Given the description of an element on the screen output the (x, y) to click on. 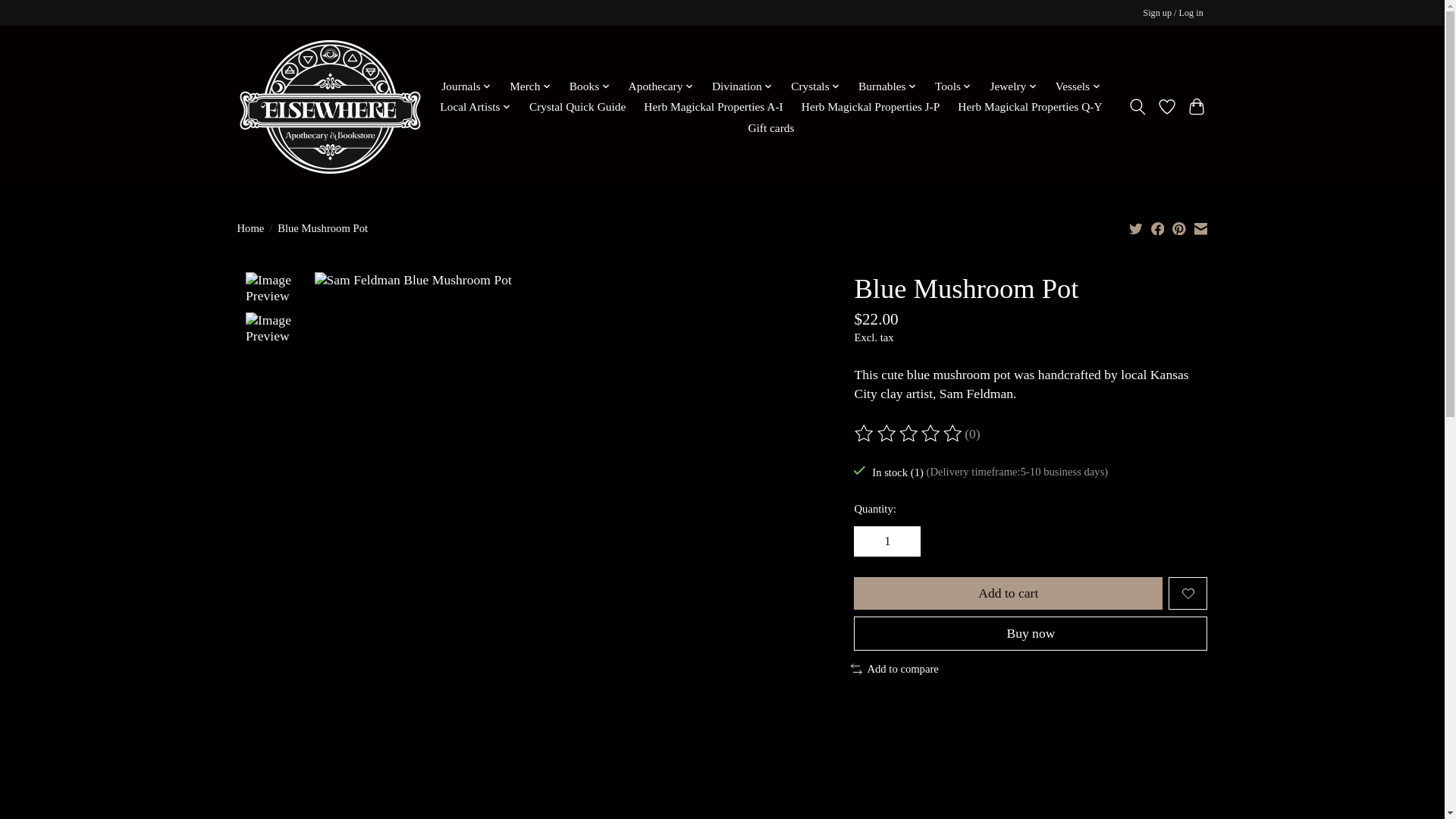
Share on Twitter (1135, 228)
Books (589, 86)
Crystals (815, 86)
My account (1173, 13)
1 (886, 541)
Share by Email (1200, 228)
Merch (529, 86)
Share on Facebook (1157, 228)
Apothecary (660, 86)
Elsewhere Apothecary and Bookstore (328, 106)
